Given the description of an element on the screen output the (x, y) to click on. 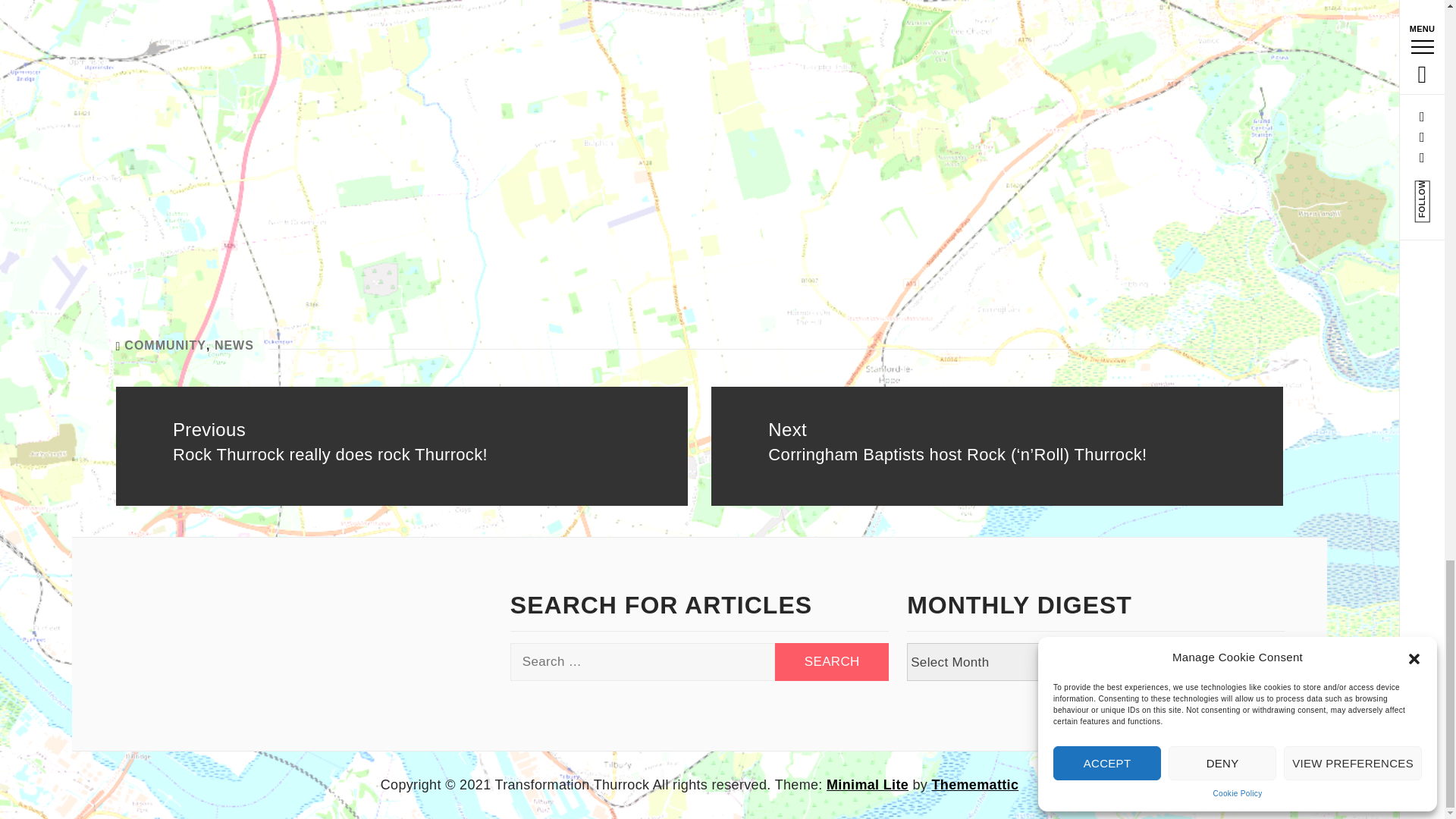
Search (831, 661)
Search (831, 661)
